Given the description of an element on the screen output the (x, y) to click on. 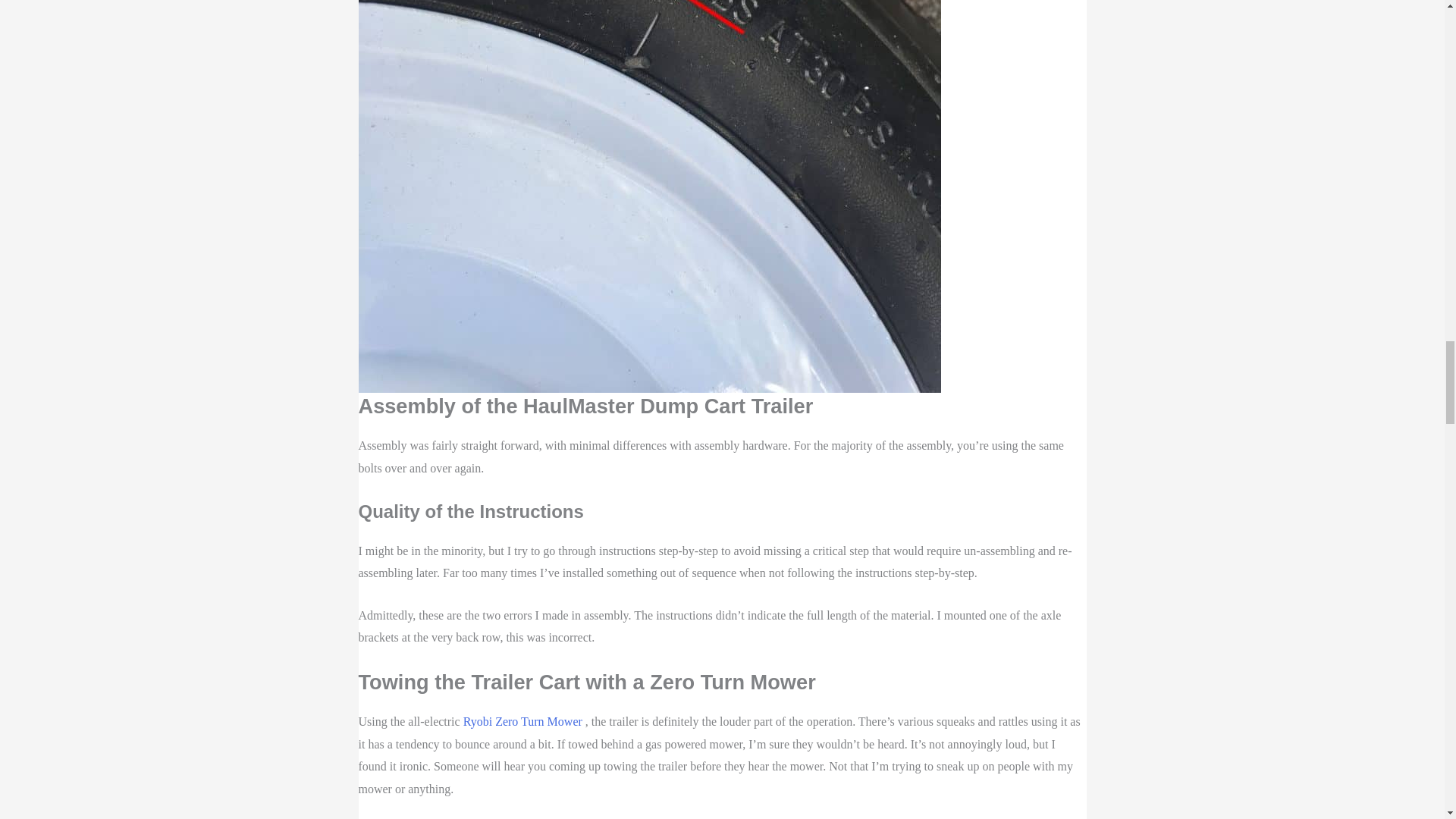
Ryobi Zero Turn Mower (524, 721)
